Given the description of an element on the screen output the (x, y) to click on. 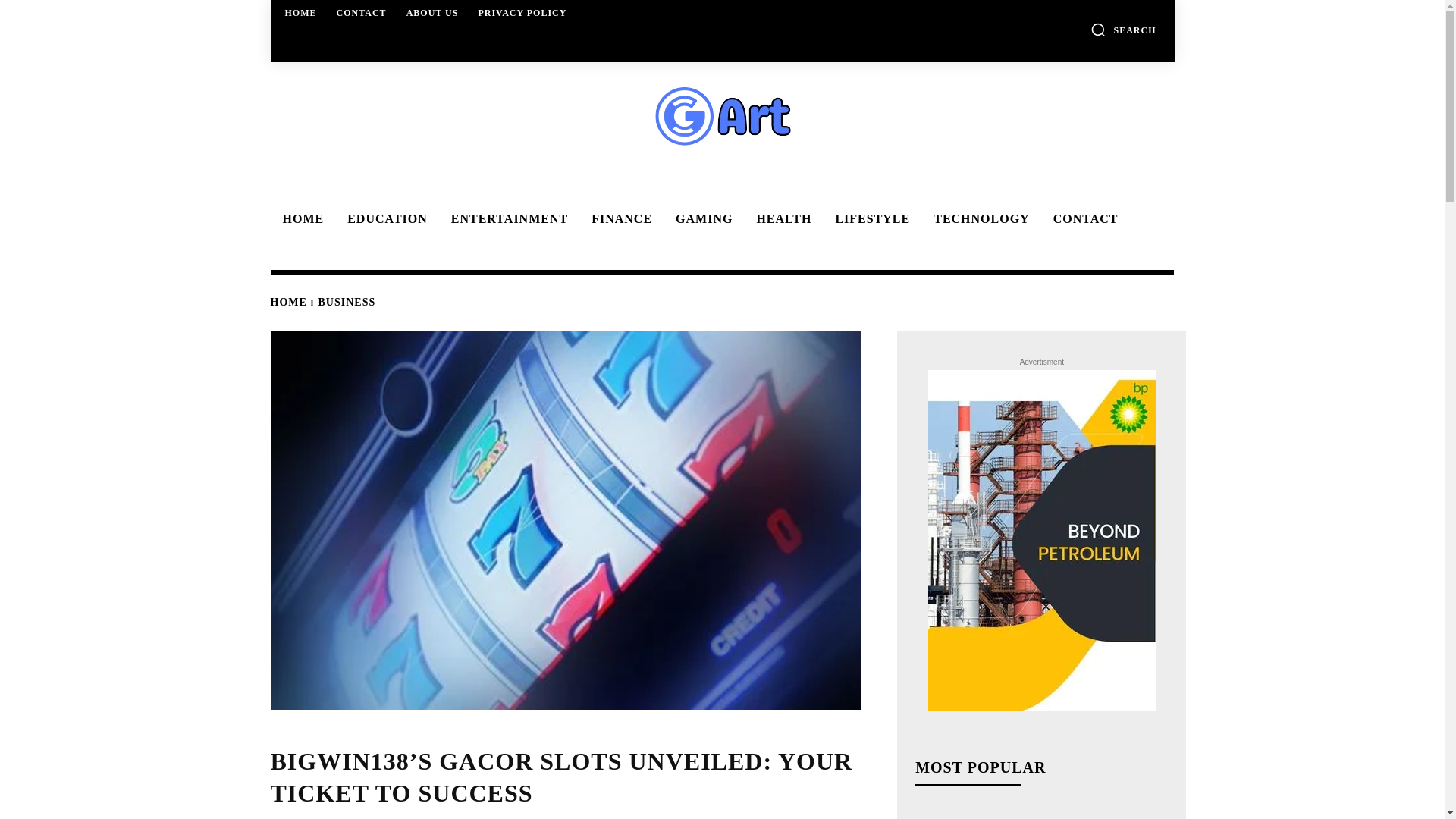
CONTACT (361, 12)
HOME (287, 301)
HOME (301, 12)
GAMING (701, 218)
LIFESTYLE (869, 218)
PRIVACY POLICY (521, 12)
SEARCH (1123, 29)
CONTACT (1083, 218)
FINANCE (619, 218)
HEALTH (781, 218)
